Given the description of an element on the screen output the (x, y) to click on. 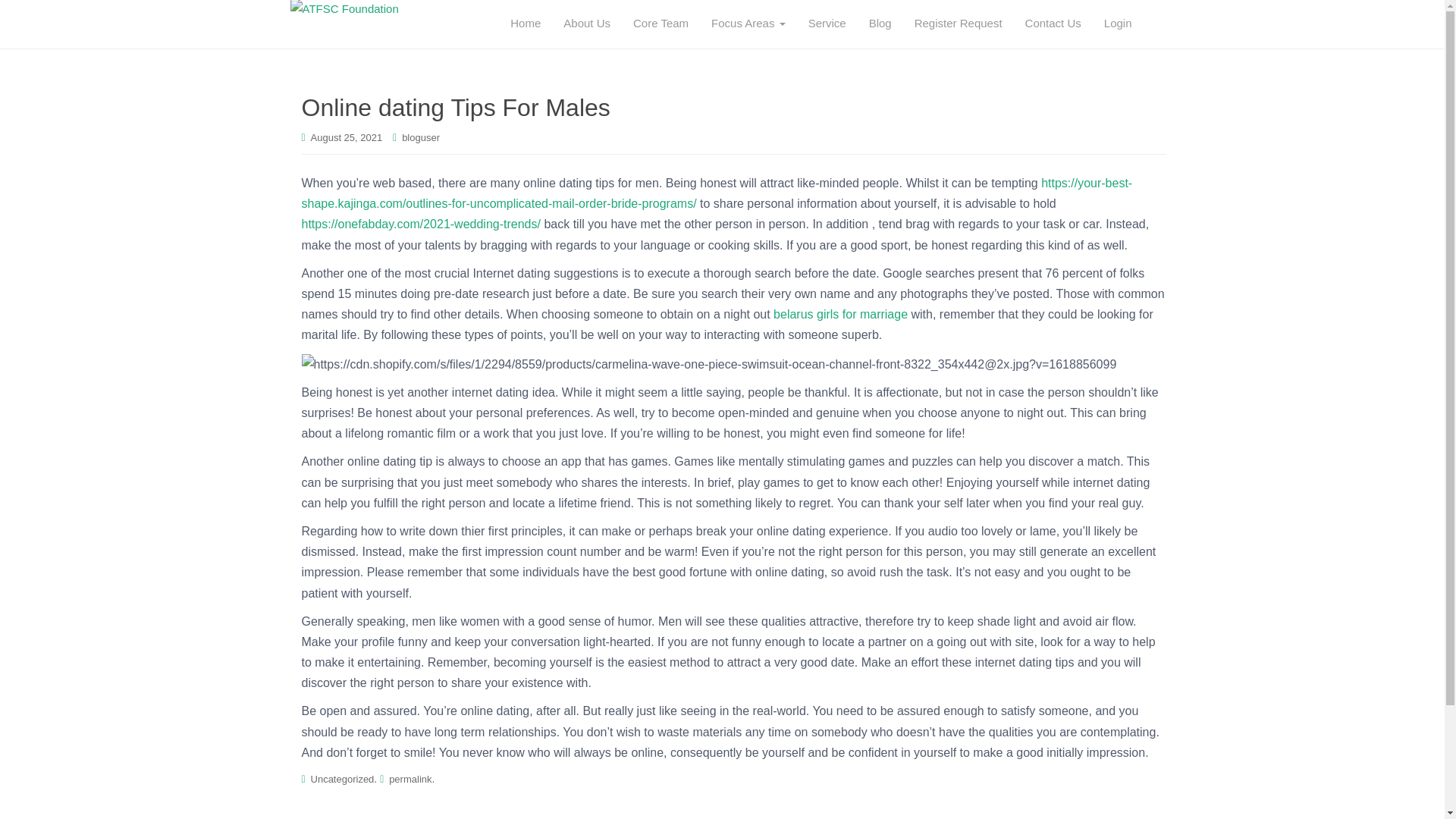
permalink (409, 778)
August 25, 2021 (346, 137)
belarus girls for marriage (840, 314)
Register Request (957, 24)
Home (525, 24)
Blog (879, 24)
Login (1117, 24)
Uncategorized (342, 778)
About Us (586, 24)
Service (826, 24)
